Given the description of an element on the screen output the (x, y) to click on. 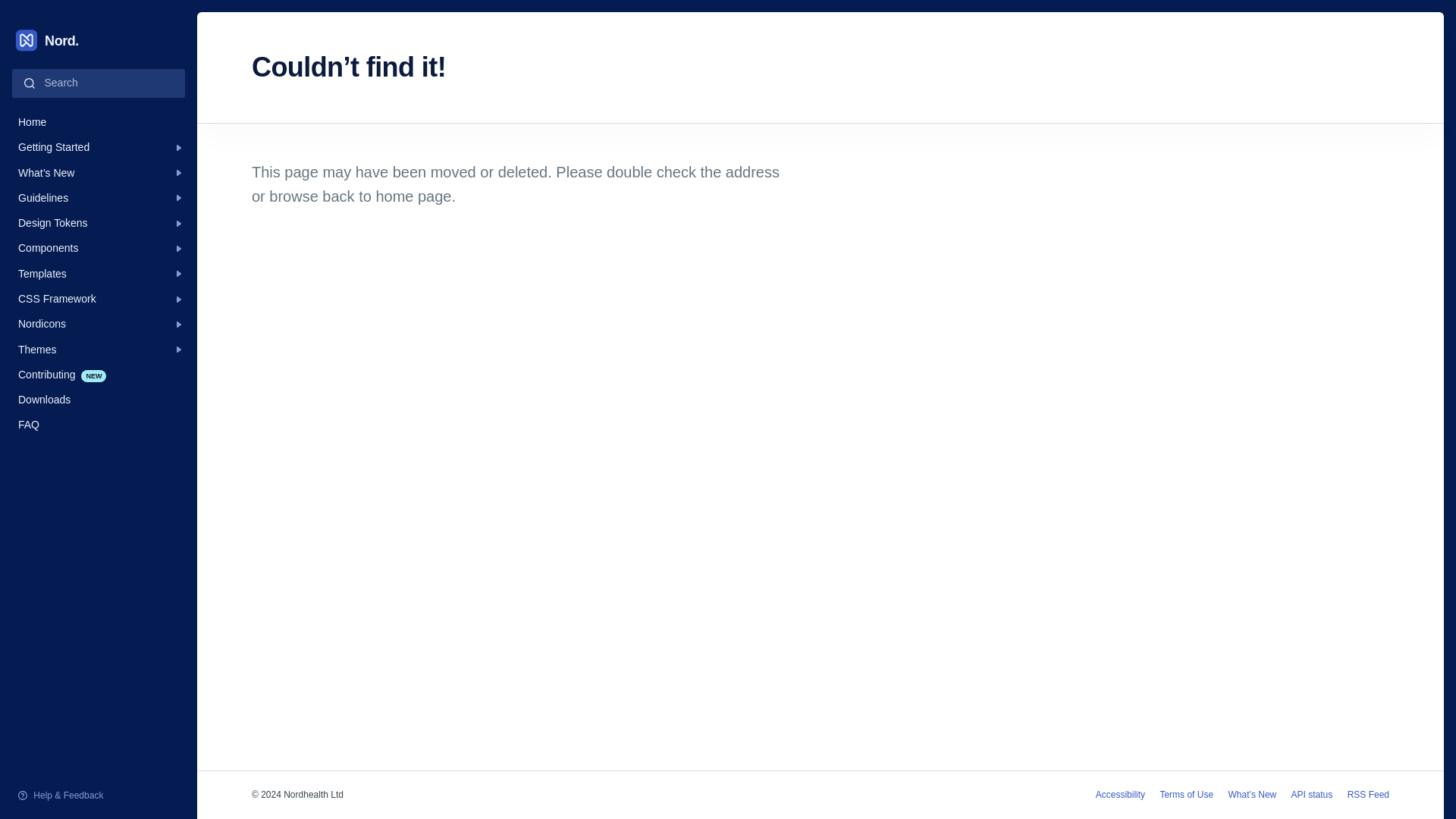
Getting Started (98, 147)
Design Tokens (98, 222)
Components (98, 248)
Home (98, 122)
Guidelines (97, 40)
